Given the description of an element on the screen output the (x, y) to click on. 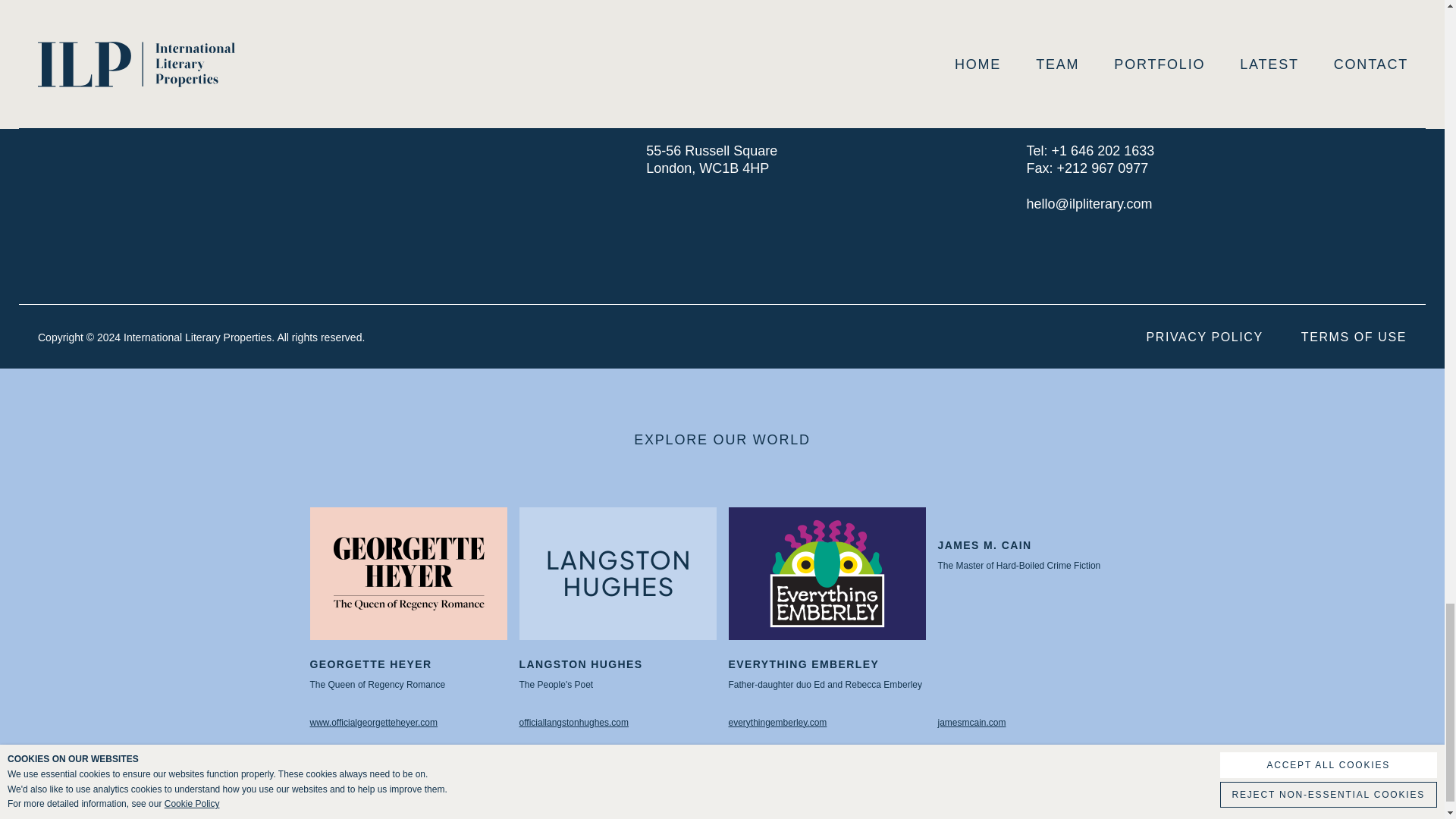
PRIVACY POLICY (617, 617)
TERMS OF USE (1185, 337)
